Given the description of an element on the screen output the (x, y) to click on. 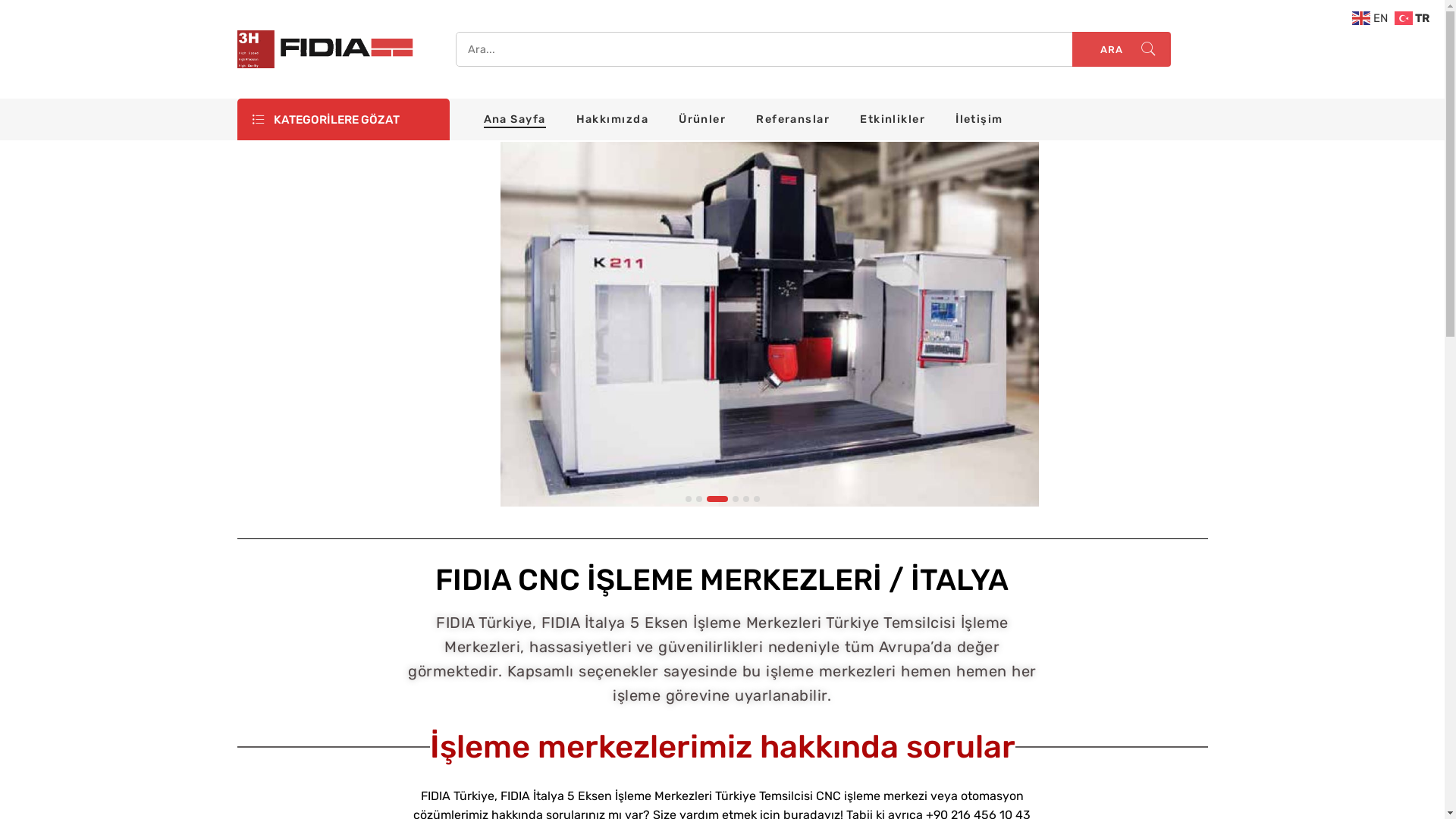
TR Element type: text (1413, 17)
Etkinlikler Element type: text (892, 119)
EN Element type: text (1371, 17)
Referanslar Element type: text (792, 119)
ARA Element type: text (1121, 48)
Ana Sayfa Element type: text (514, 119)
